Given the description of an element on the screen output the (x, y) to click on. 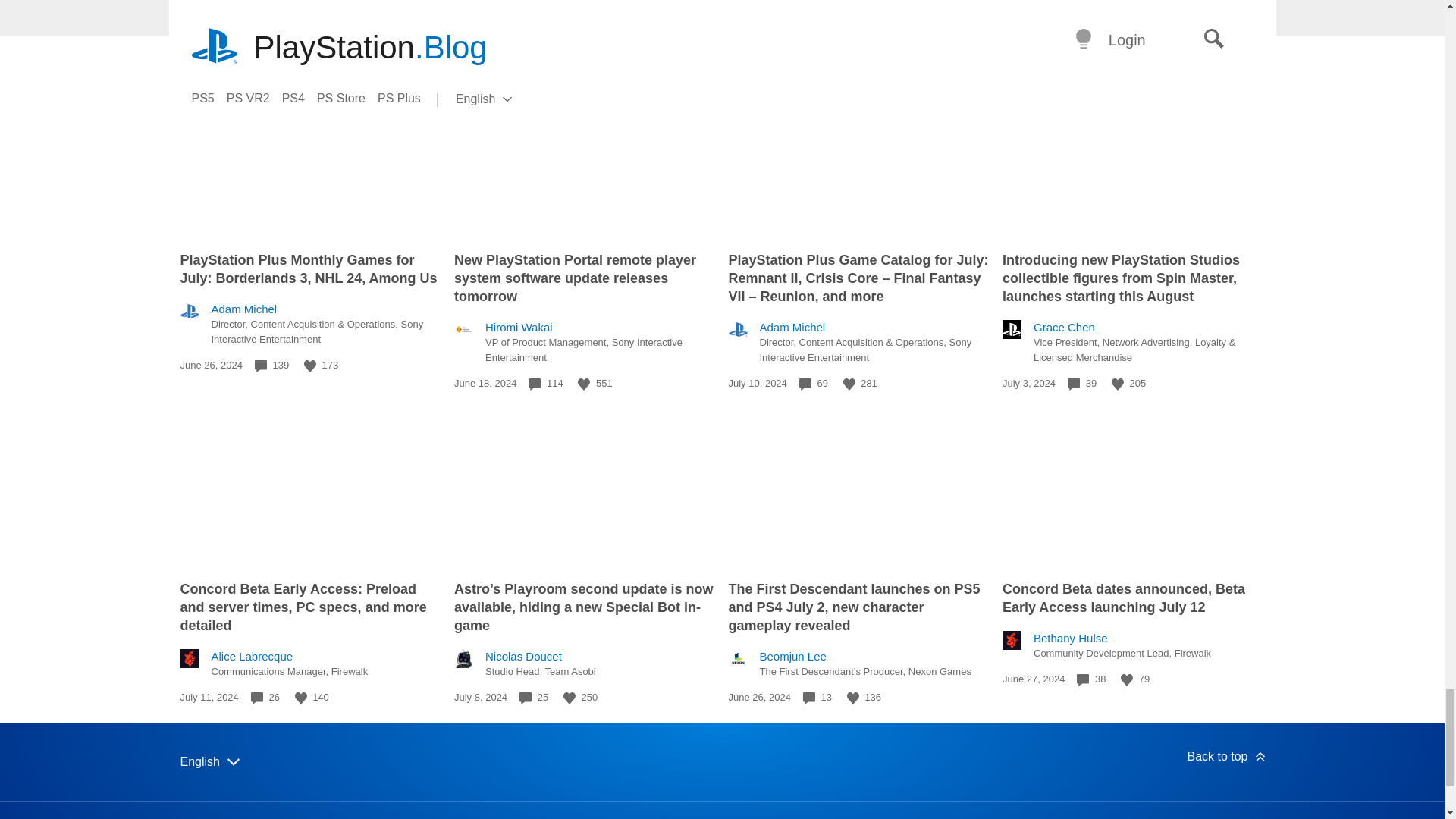
Like this (309, 366)
Like this (301, 698)
Like this (1118, 384)
Like this (849, 384)
Like this (583, 384)
